Given the description of an element on the screen output the (x, y) to click on. 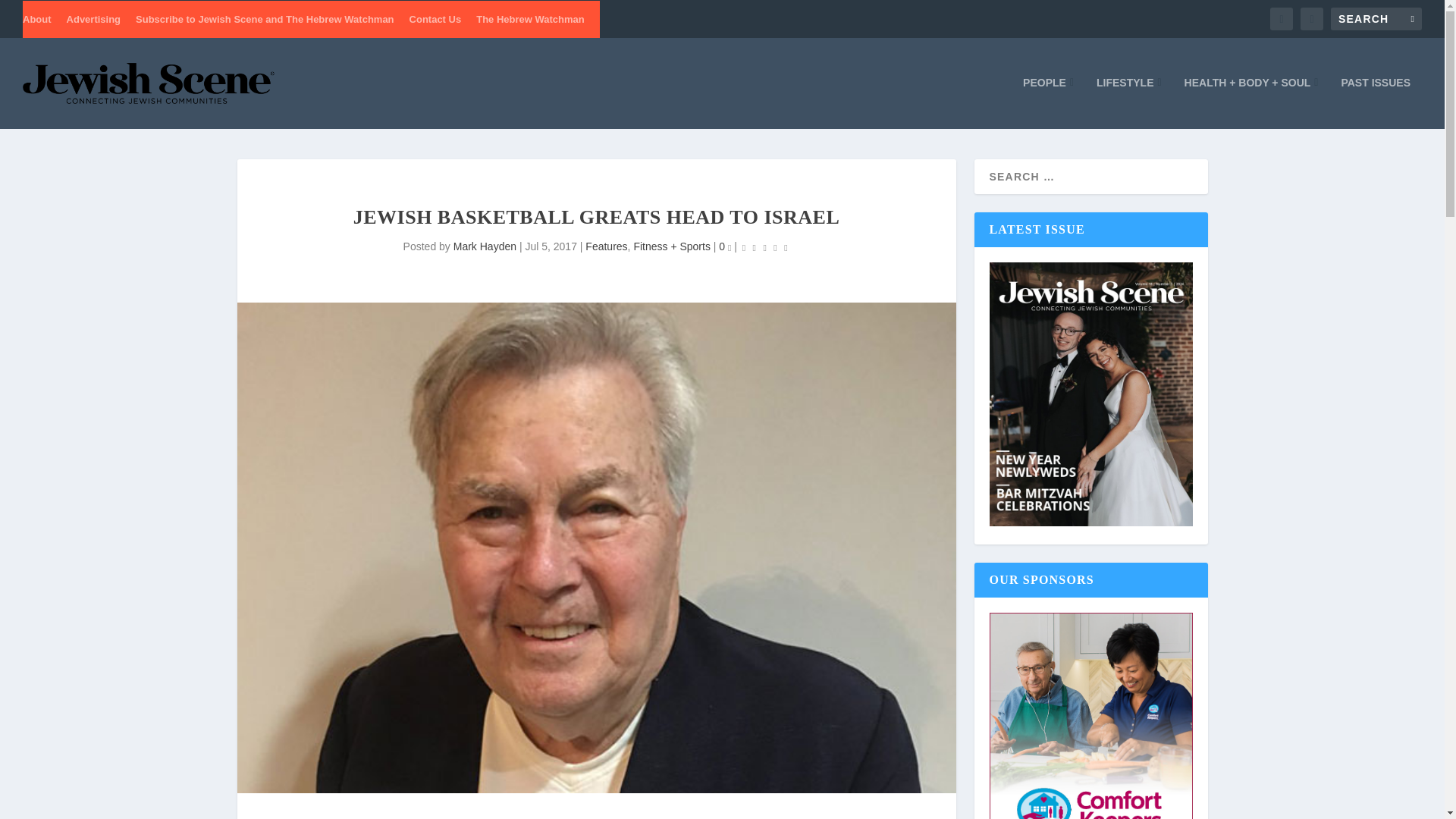
Advertising (93, 18)
LIFESTYLE (1128, 102)
PAST ISSUES (1375, 102)
The Hebrew Watchman (530, 18)
PEOPLE (1048, 102)
Contact Us (435, 18)
Search for: (1376, 18)
Posts by Mark Hayden (484, 246)
Rating: 0.00 (764, 247)
Subscribe to Jewish Scene and The Hebrew Watchman (264, 18)
